Given the description of an element on the screen output the (x, y) to click on. 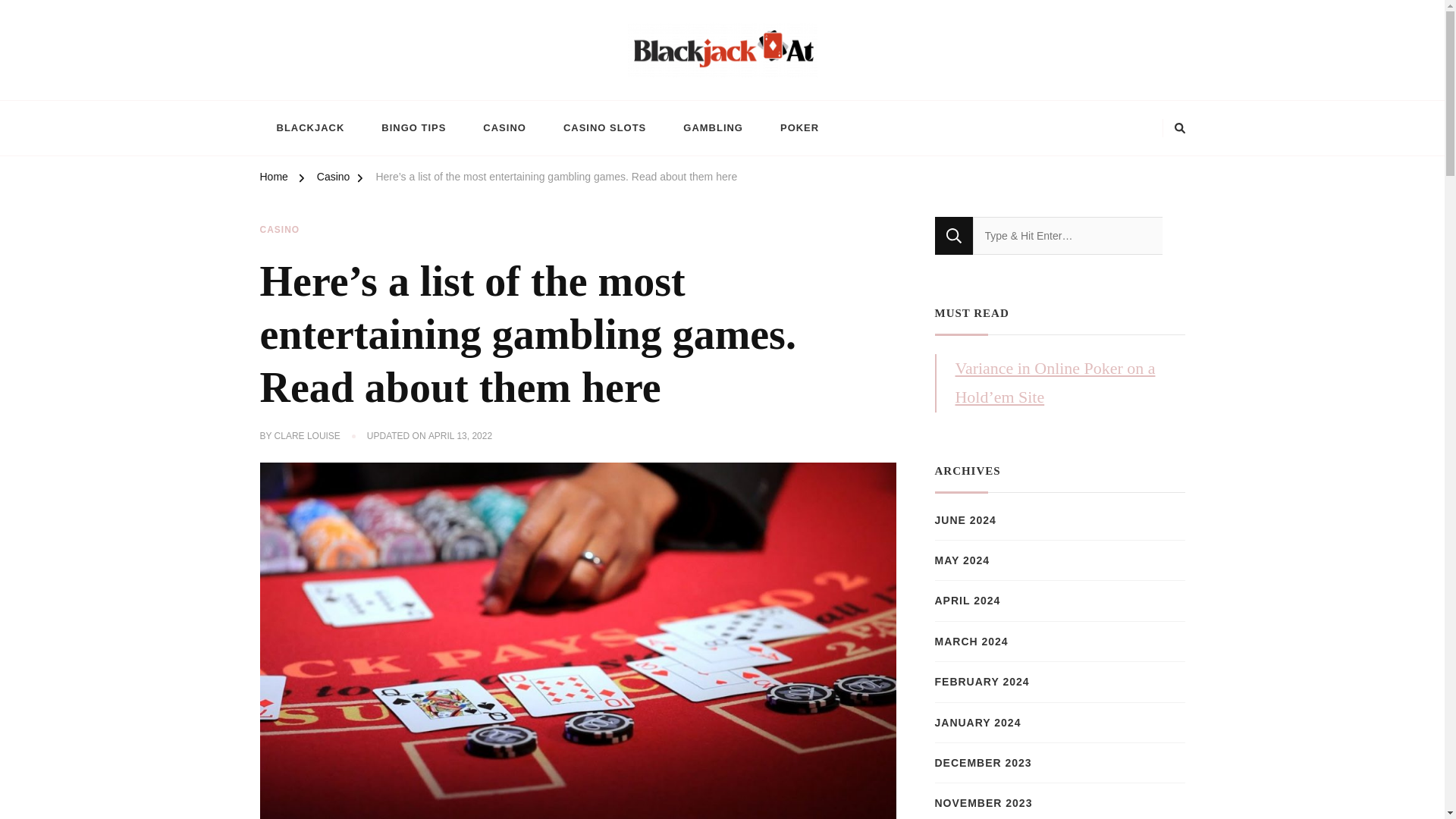
CASINO (279, 230)
JUNE 2024 (964, 519)
Blackjack At (322, 91)
Search (953, 235)
POKER (798, 128)
CLARE LOUISE (307, 436)
Home (272, 178)
Search (953, 235)
CASINO SLOTS (604, 128)
Search (953, 235)
Casino (333, 178)
BINGO TIPS (414, 128)
APRIL 13, 2022 (460, 436)
BLACKJACK (310, 128)
CASINO (504, 128)
